Given the description of an element on the screen output the (x, y) to click on. 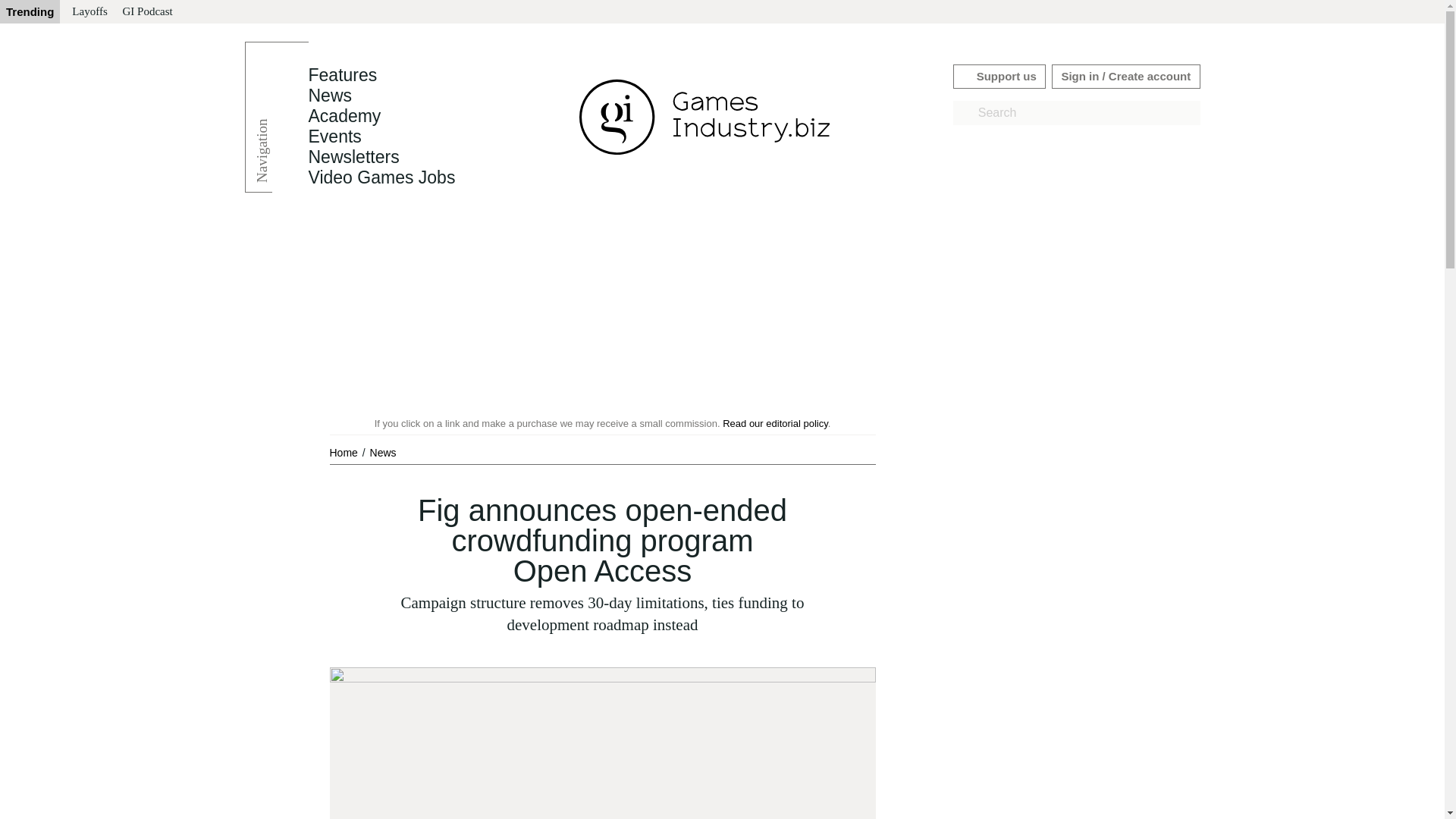
News (382, 452)
Events (334, 136)
Newsletters (352, 157)
Read our editorial policy (775, 423)
Home (344, 452)
Features (342, 75)
News (329, 95)
Academy (343, 116)
Layoffs (89, 11)
News (329, 95)
